Given the description of an element on the screen output the (x, y) to click on. 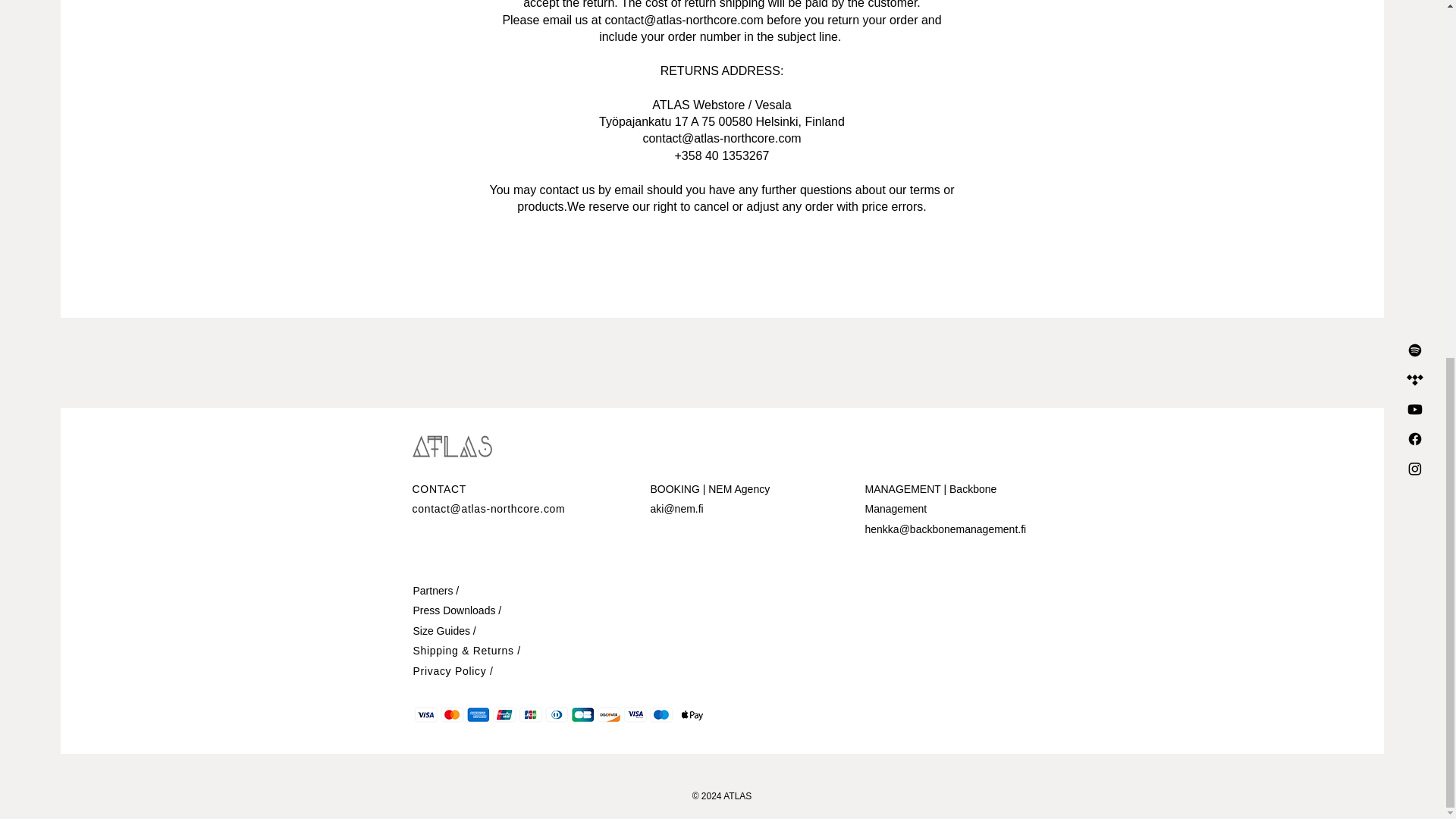
Size Guides (440, 630)
Press Downloads (453, 610)
ATLAS LOGO - WHITE.png (452, 446)
